Given the description of an element on the screen output the (x, y) to click on. 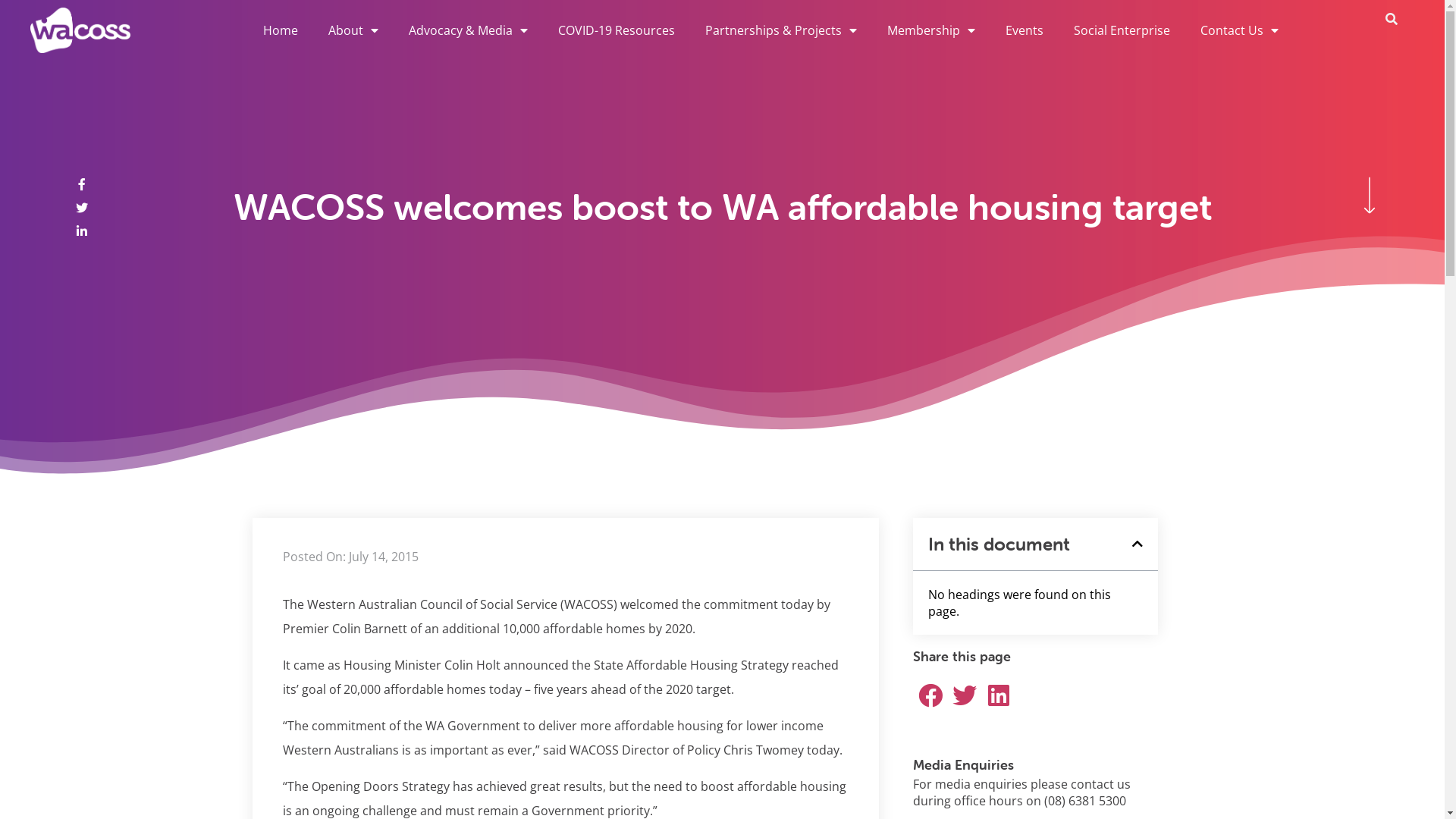
Contact Us Element type: text (1239, 30)
WACOSS welcomes boost to WA affordable housing target Element type: text (722, 207)
About Element type: text (353, 30)
Events Element type: text (1024, 30)
Social Enterprise Element type: text (1121, 30)
Membership Element type: text (931, 30)
Advocacy & Media Element type: text (467, 30)
Home Element type: text (280, 30)
Partnerships & Projects Element type: text (781, 30)
COVID-19 Resources Element type: text (616, 30)
